Given the description of an element on the screen output the (x, y) to click on. 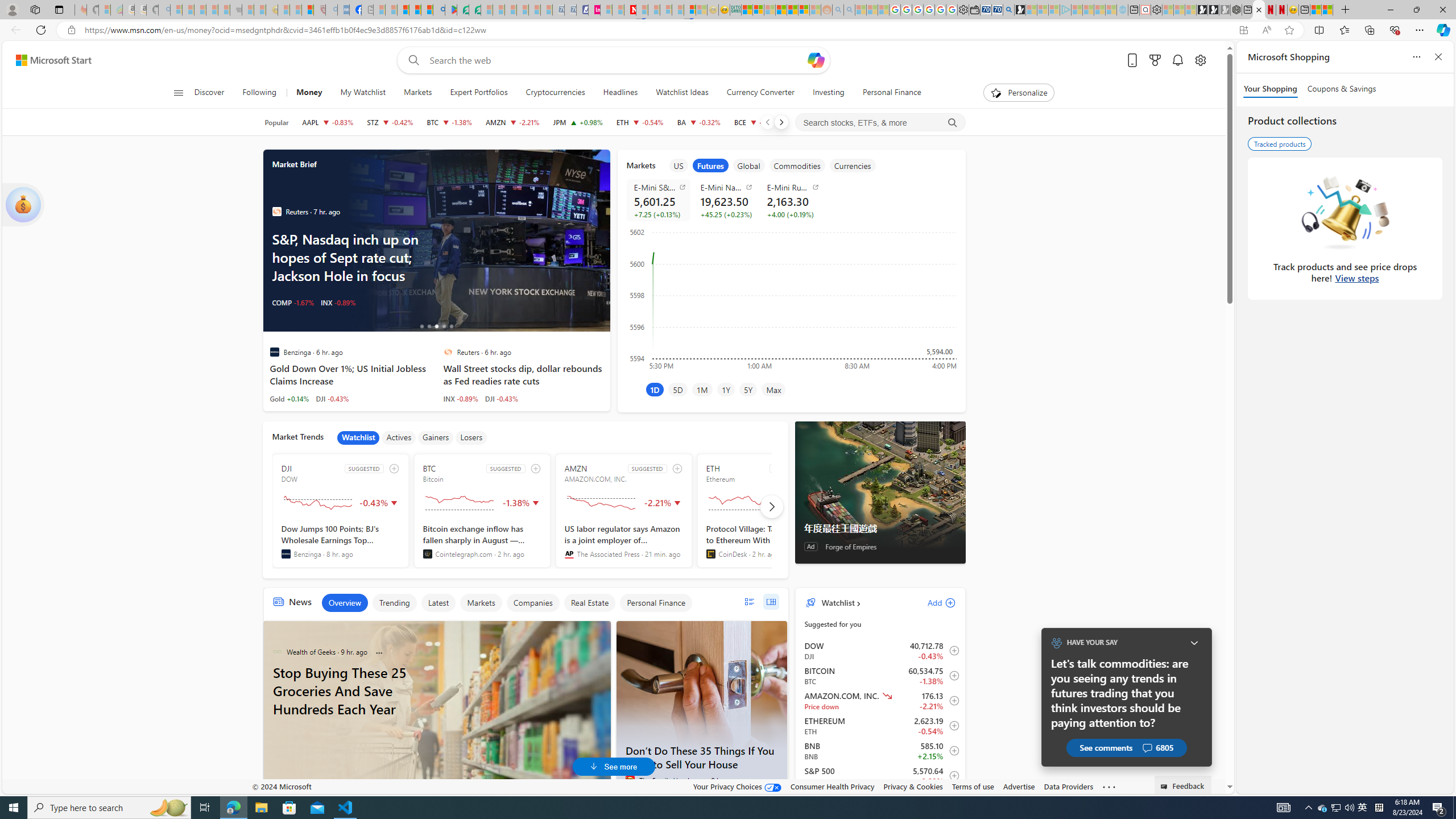
Wealth of Geeks (277, 651)
Previous (767, 122)
The Family Handyman (629, 779)
